Given the description of an element on the screen output the (x, y) to click on. 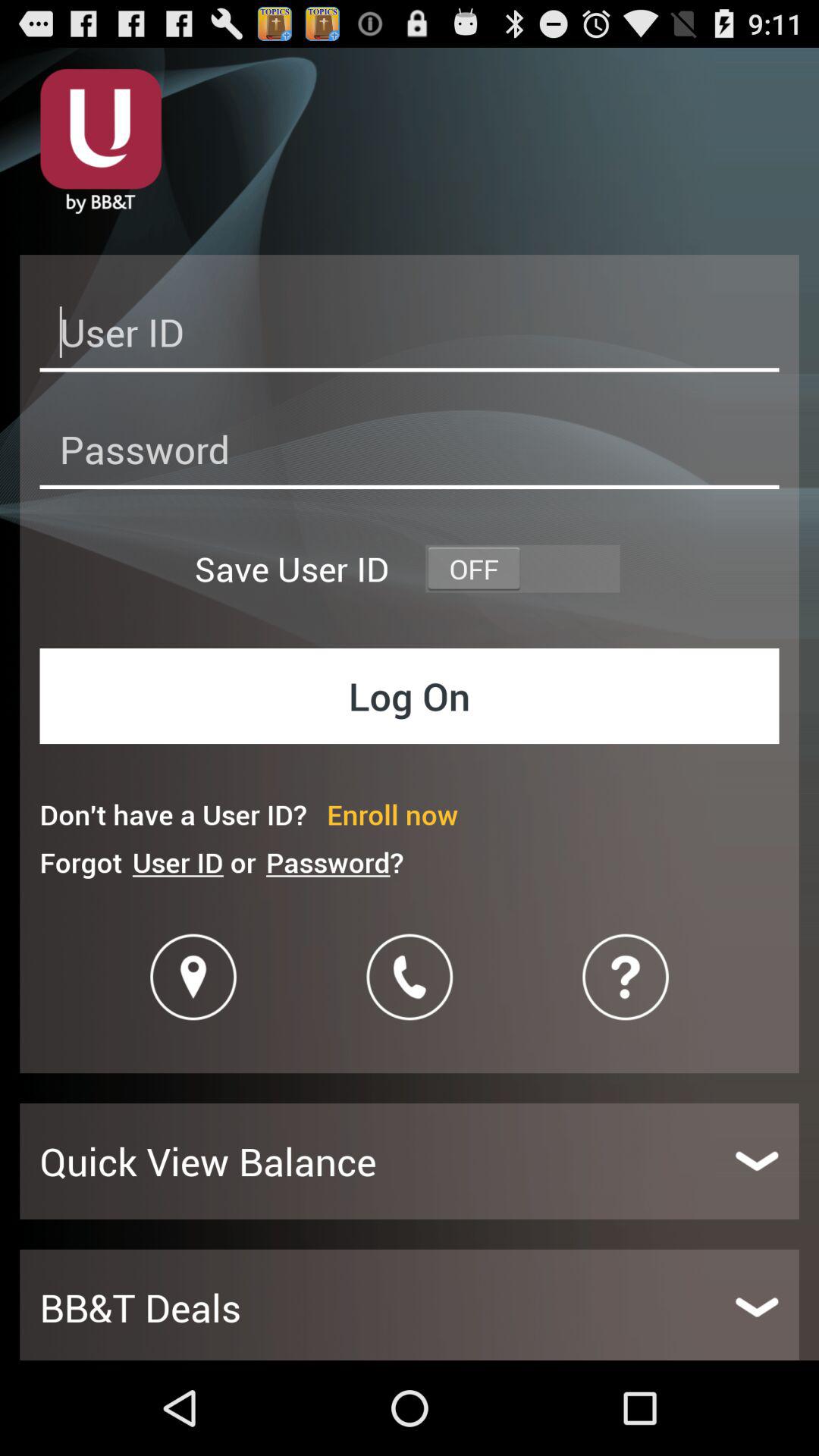
choose the item next to the don t have icon (392, 814)
